Given the description of an element on the screen output the (x, y) to click on. 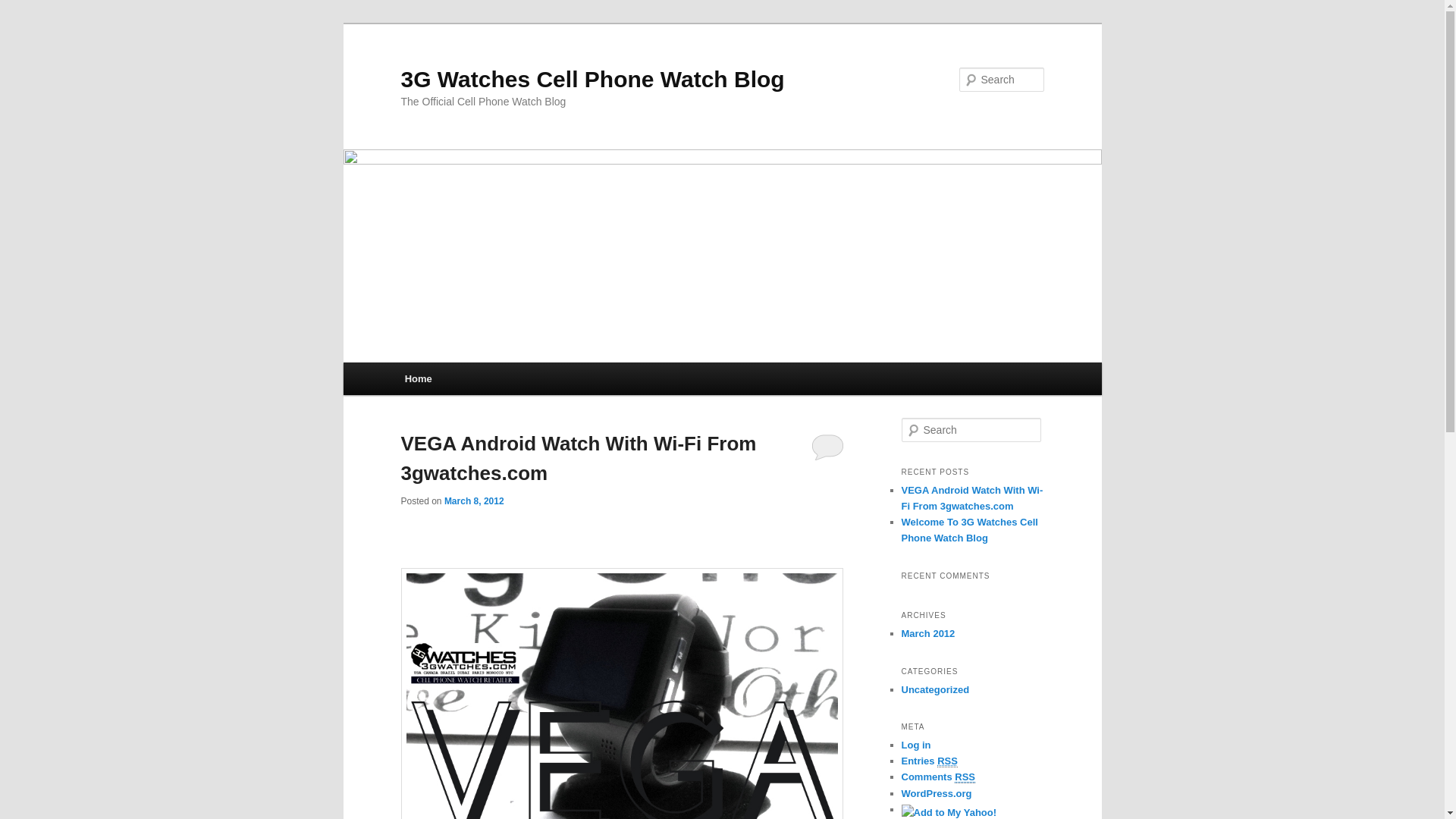
3G Watches Cell Phone Watch Blog Element type: text (592, 78)
VEGA Android Watch With Wi-Fi From 3gwatches.com Element type: text (971, 497)
Skip to primary content Element type: text (472, 381)
Entries RSS Element type: text (928, 761)
Uncategorized Element type: text (934, 689)
Comments RSS Element type: text (937, 777)
Log in Element type: text (915, 744)
Search Element type: text (24, 8)
Skip to secondary content Element type: text (479, 381)
March 2012 Element type: text (927, 633)
VEGA Android Watch With Wi-Fi From 3gwatches.com Element type: text (578, 458)
Search Element type: text (20, 10)
Welcome To 3G Watches Cell Phone Watch Blog Element type: text (968, 529)
WordPress.org Element type: text (935, 793)
Comment on VEGA Android Watch With Wi-Fi From 3gwatches.com Element type: hover (827, 446)
Home Element type: text (418, 378)
March 8, 2012 Element type: text (474, 500)
